Given the description of an element on the screen output the (x, y) to click on. 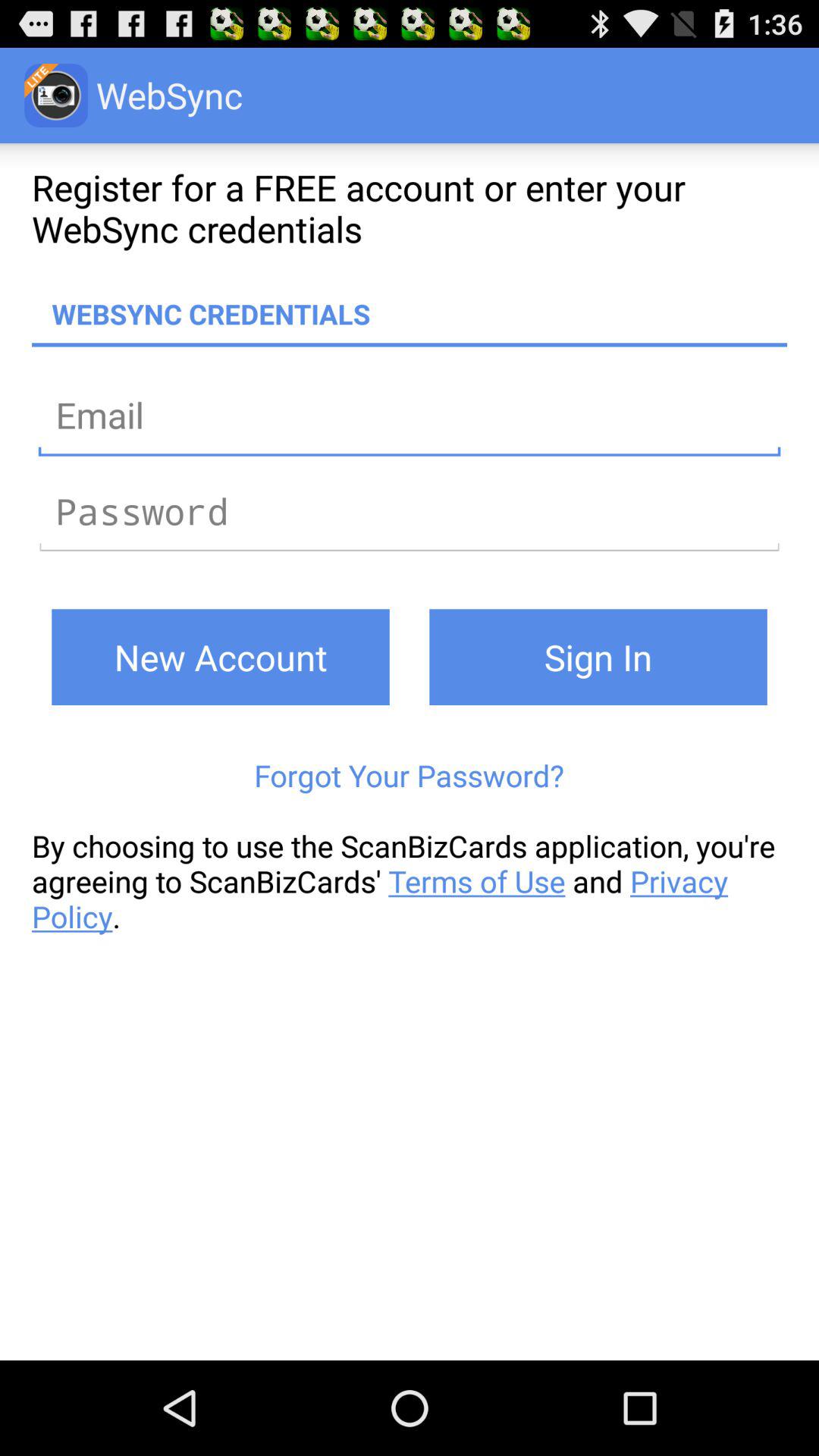
click icon above by choosing to app (409, 775)
